Given the description of an element on the screen output the (x, y) to click on. 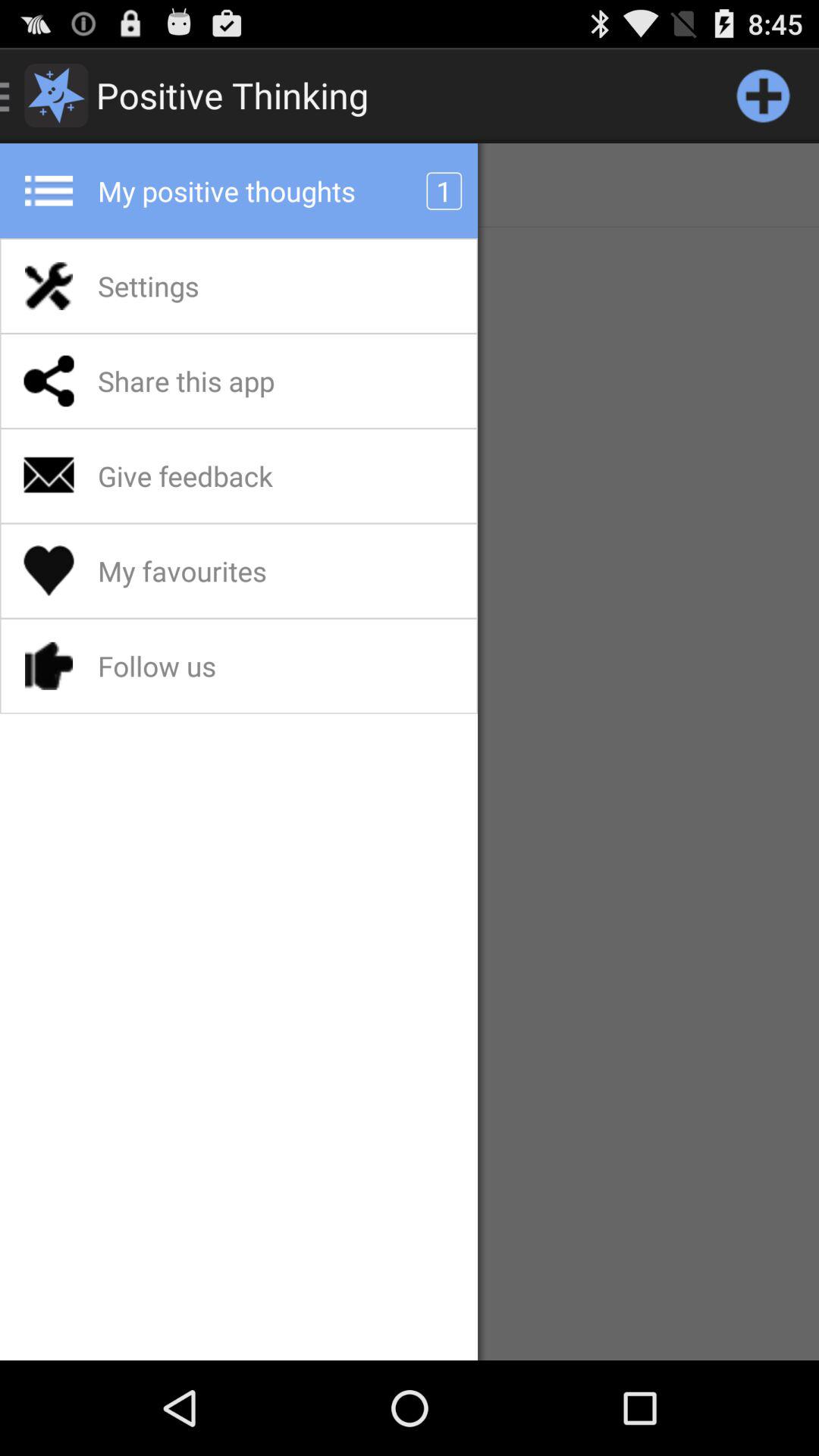
open 1 app (443, 190)
